Given the description of an element on the screen output the (x, y) to click on. 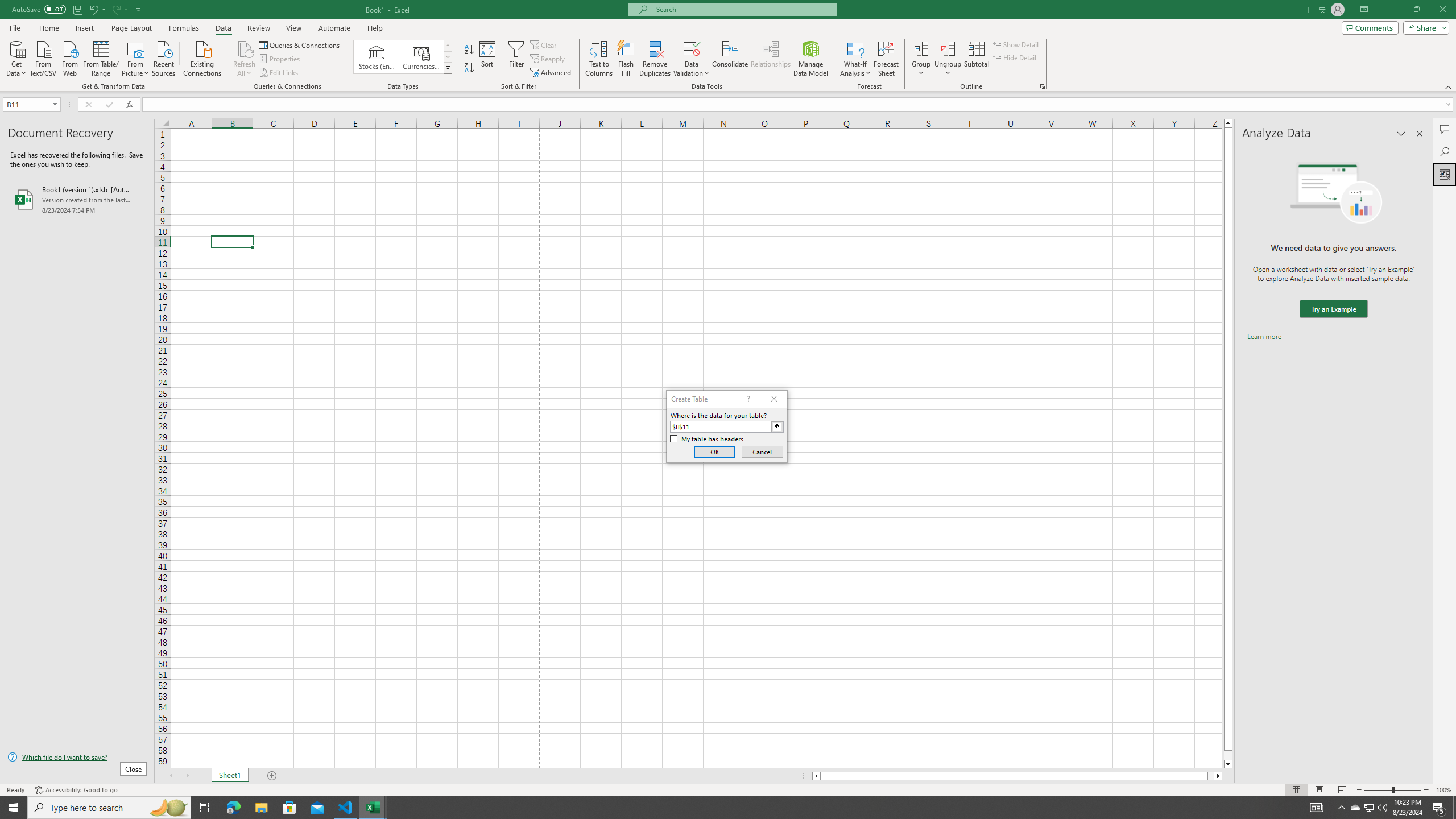
Filter (515, 58)
Sort... (487, 58)
Class: MsoCommandBar (728, 45)
